Given the description of an element on the screen output the (x, y) to click on. 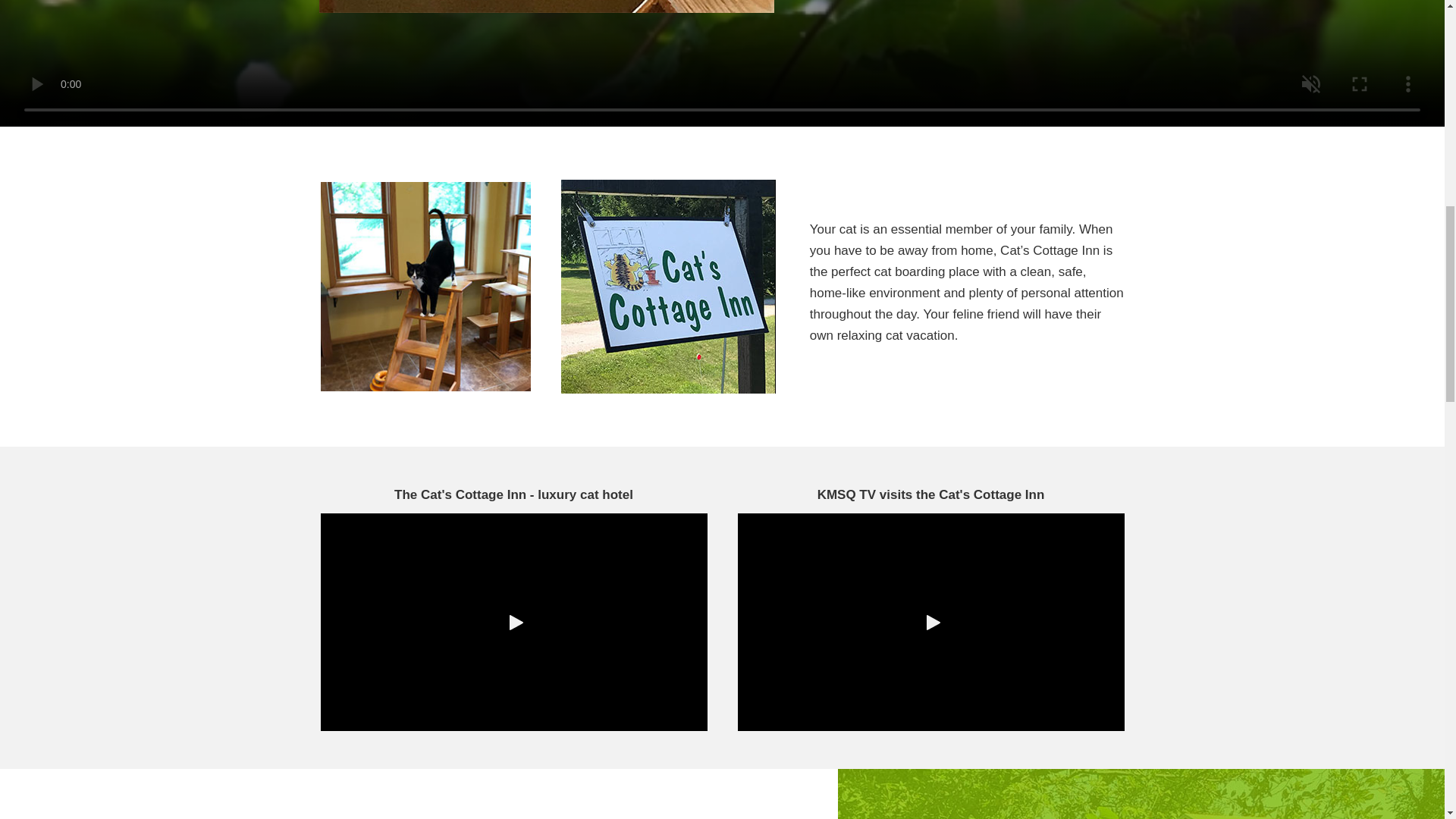
Cat's Cottage Inn (668, 286)
Cat's Cottage Inn (546, 6)
Cat's Cottage Inn (425, 286)
